Given the description of an element on the screen output the (x, y) to click on. 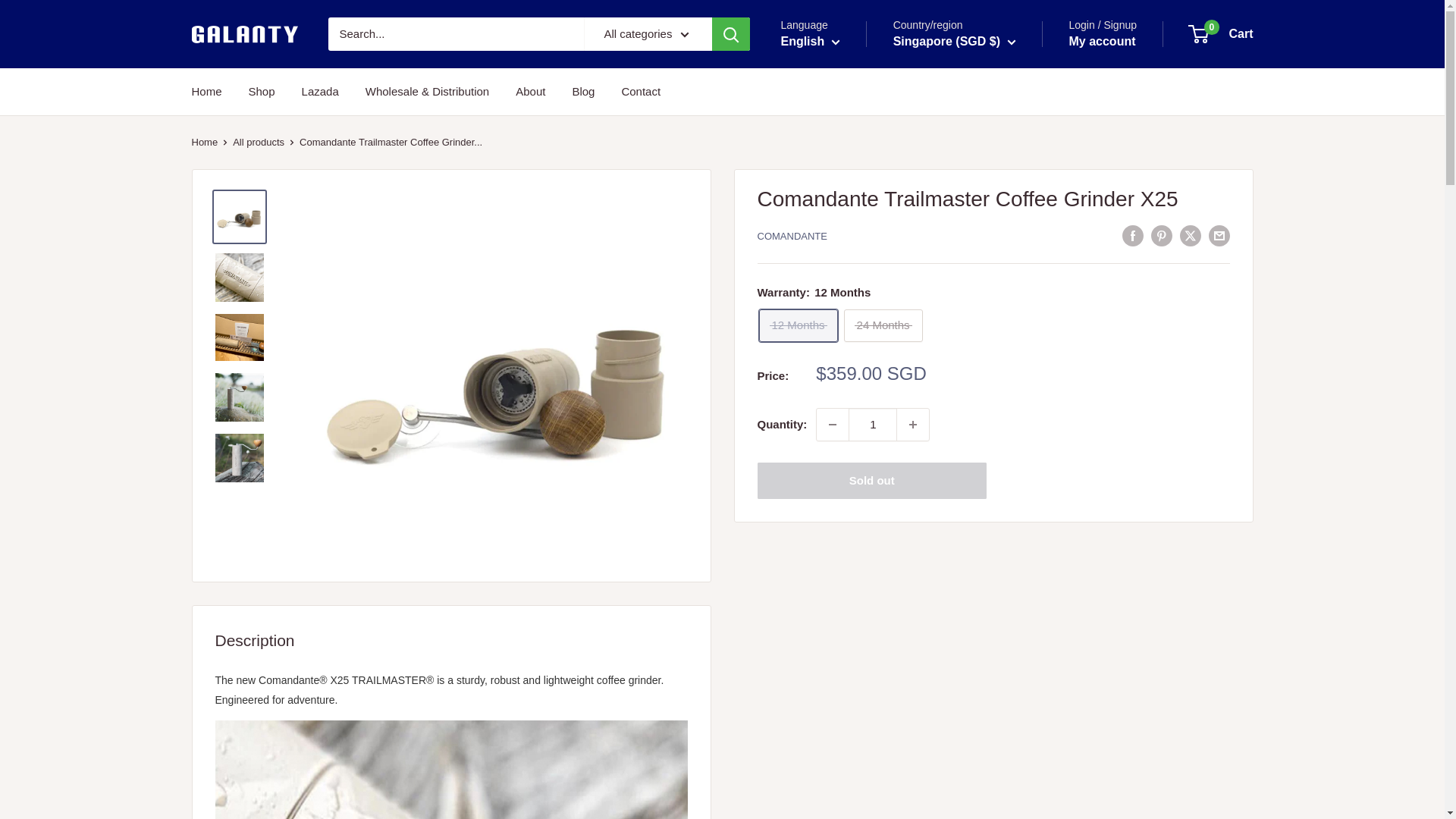
BY (894, 506)
AZ (894, 396)
BD (894, 462)
en (821, 80)
BH (894, 440)
AL (894, 134)
AR (894, 265)
BS (894, 418)
1 (872, 424)
AU (894, 353)
